Given the description of an element on the screen output the (x, y) to click on. 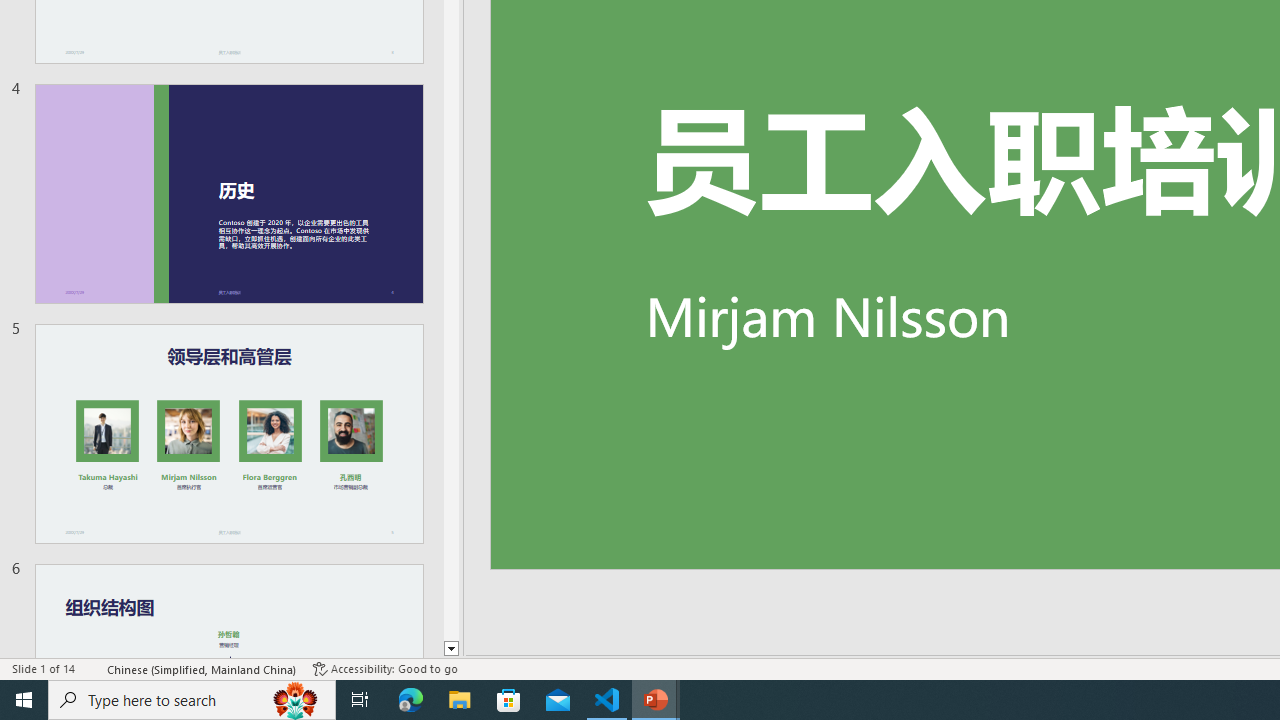
Spell Check  (92, 668)
Accessibility Checker Accessibility: Good to go (384, 668)
